Given the description of an element on the screen output the (x, y) to click on. 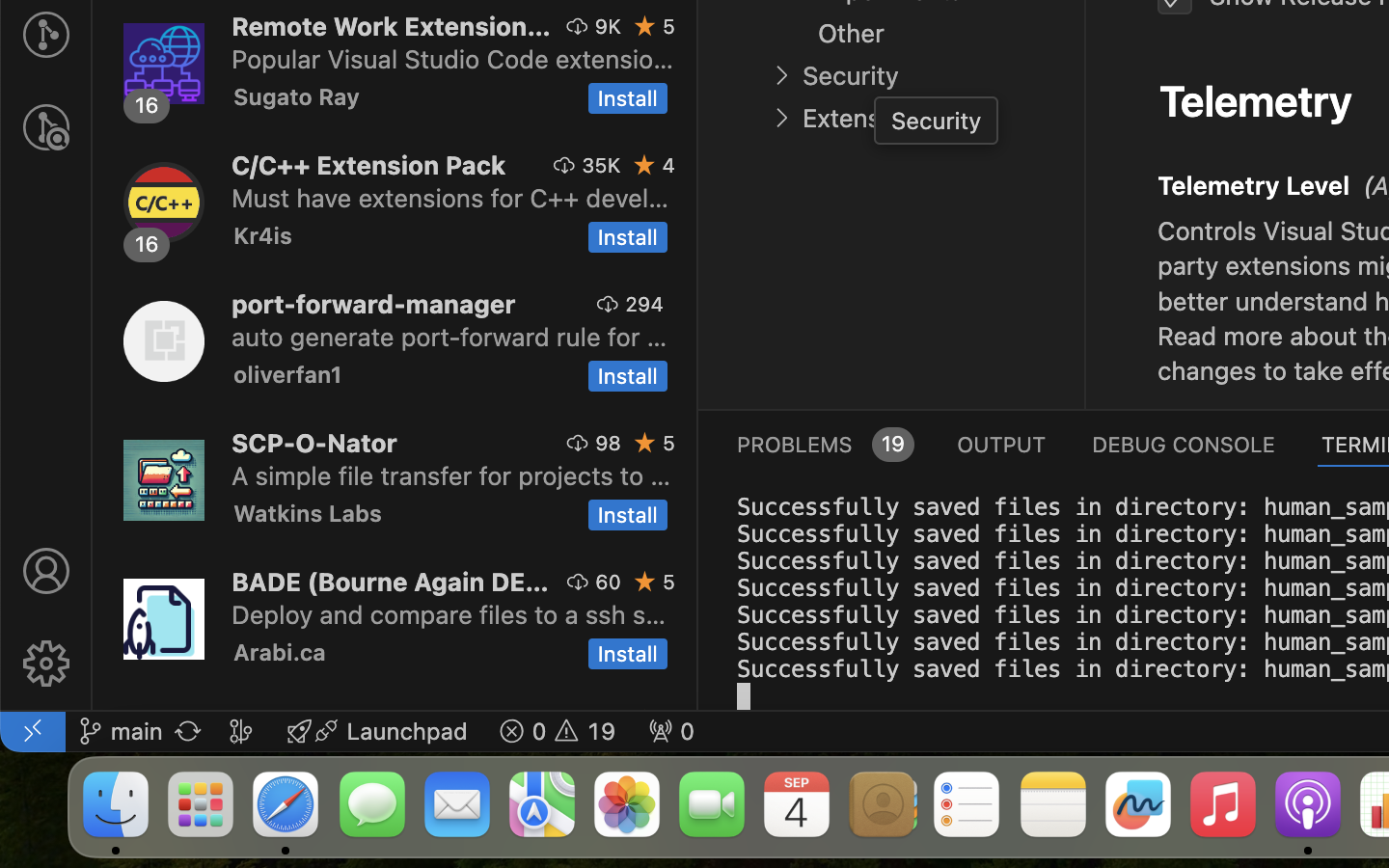
Watkins Labs Element type: AXStaticText (307, 512)
Telemetry Level Element type: AXStaticText (1253, 185)
port-forward-manager Element type: AXStaticText (374, 303)
0  Element type: AXRadioButton (46, 127)
Security Element type: AXStaticText (850, 75)
